Given the description of an element on the screen output the (x, y) to click on. 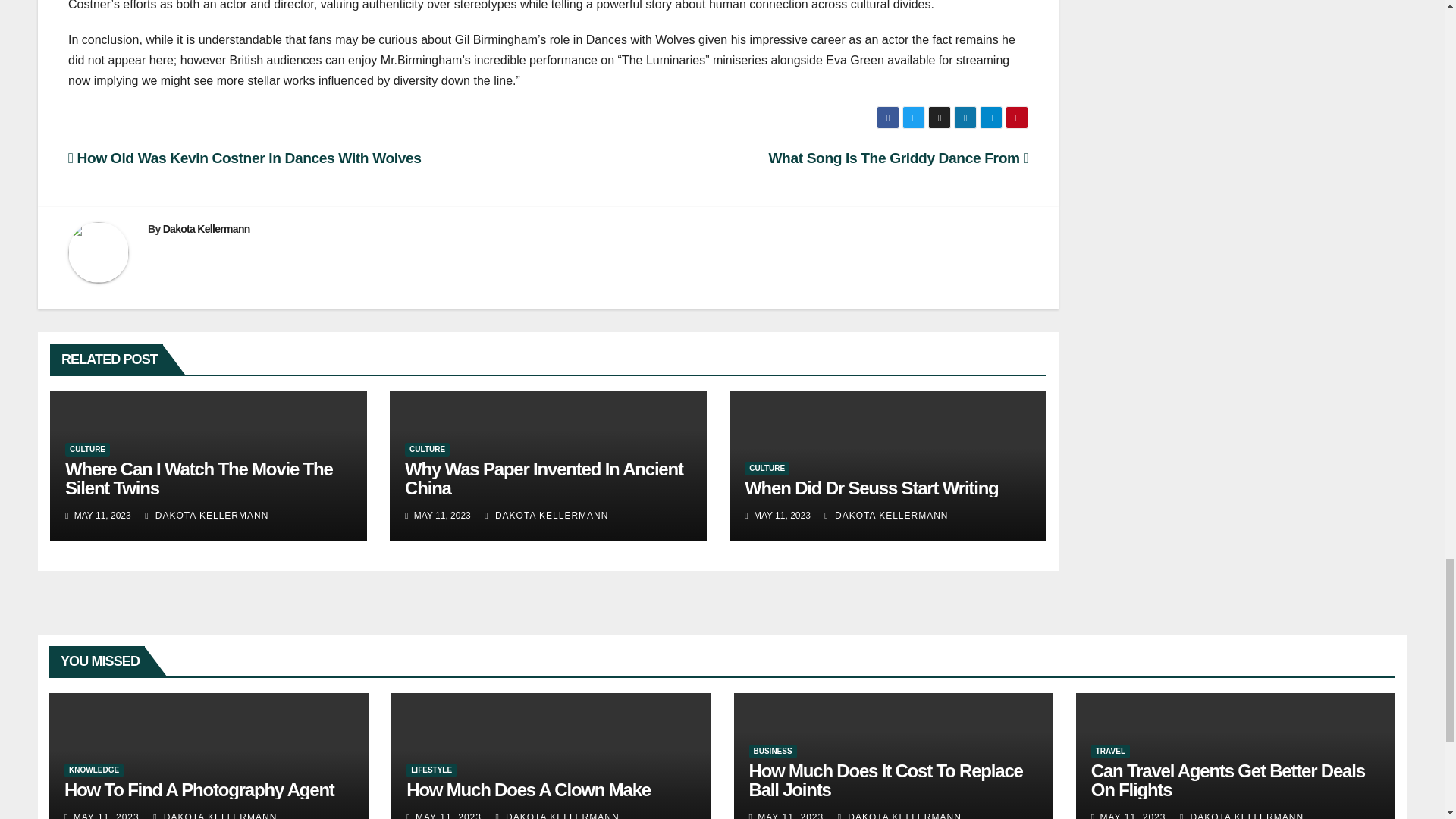
Permalink to: Why Was Paper Invented In Ancient China (543, 477)
Permalink to: How Much Does It Cost To Replace Ball Joints (886, 780)
What Song Is The Griddy Dance From (897, 157)
Permalink to: Where Can I Watch The Movie The Silent Twins (199, 477)
Permalink to: When Did Dr Seuss Start Writing (870, 487)
Permalink to: Can Travel Agents Get Better Deals On Flights (1227, 780)
Permalink to: How To Find A Photography Agent (199, 789)
Permalink to: How Much Does A Clown Make (528, 789)
